Given the description of an element on the screen output the (x, y) to click on. 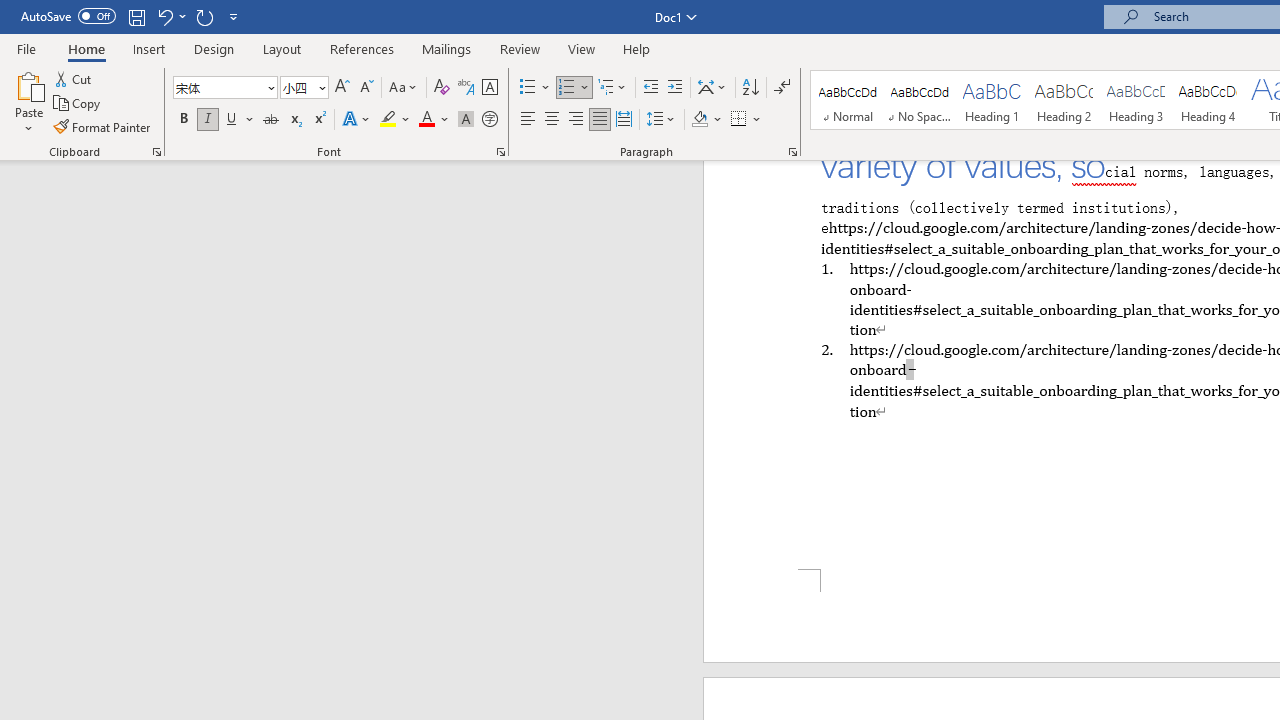
Heading 4 (1208, 100)
Heading 3 (1135, 100)
